Given the description of an element on the screen output the (x, y) to click on. 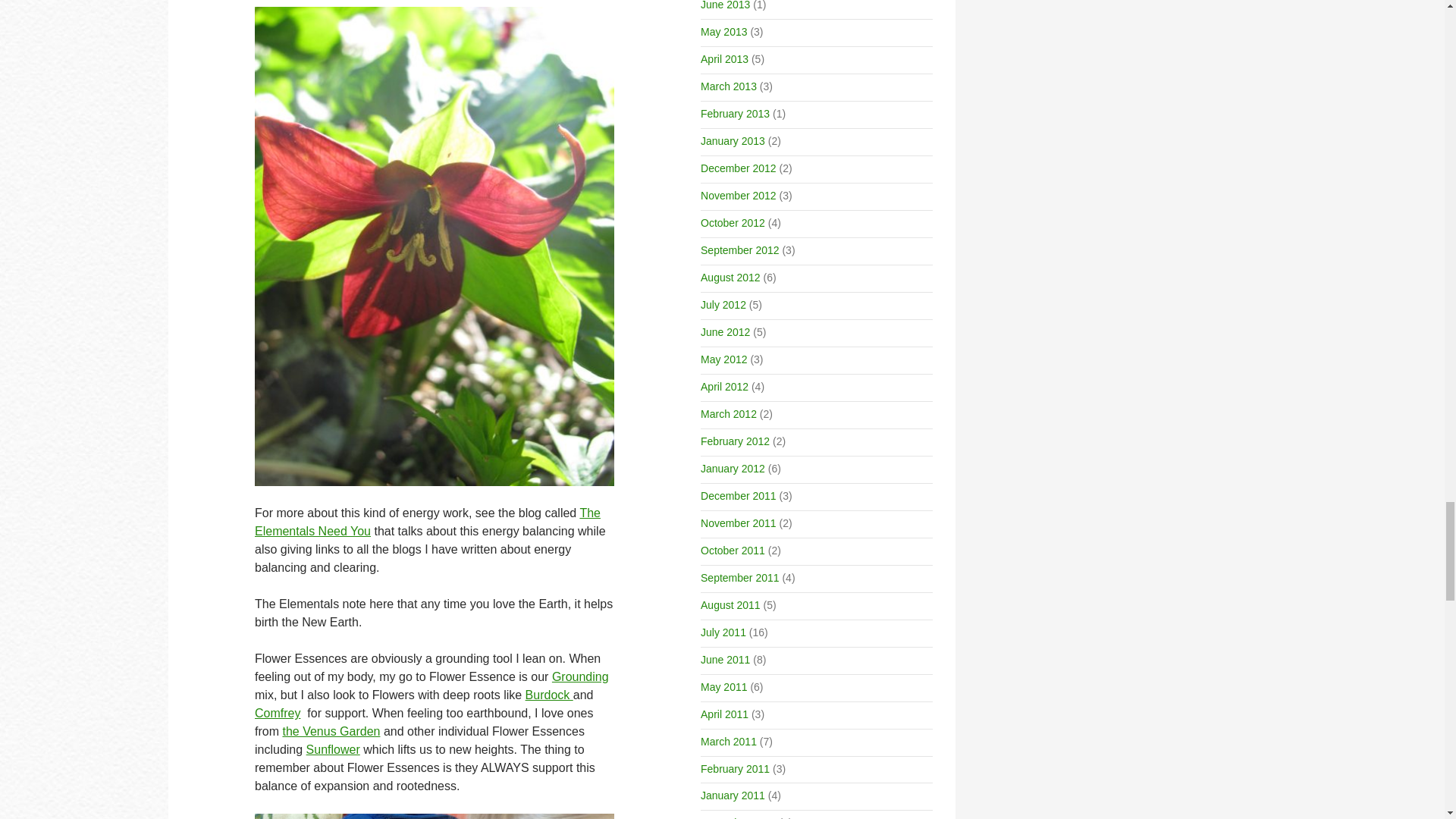
Comfrey (276, 712)
The Elementals Need You (426, 521)
Burdock (549, 694)
the Venus Garden (331, 730)
Sunflower (332, 748)
Grounding (579, 676)
